Given the description of an element on the screen output the (x, y) to click on. 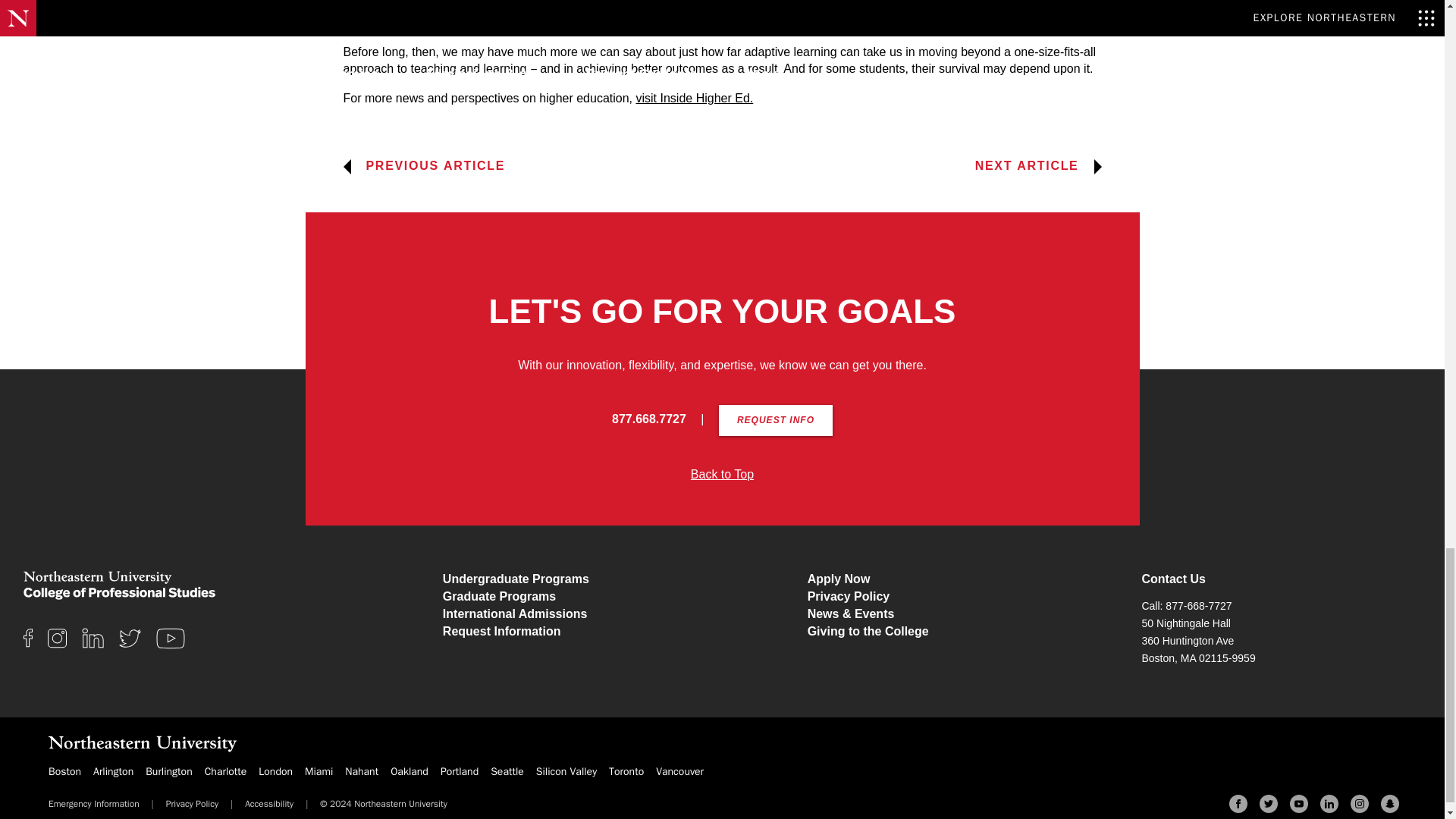
Instagram (1359, 803)
Facebook (1237, 803)
Twitter (1268, 803)
Youtube (1298, 803)
Snapchat (1389, 803)
Linkedin (1329, 803)
